Given the description of an element on the screen output the (x, y) to click on. 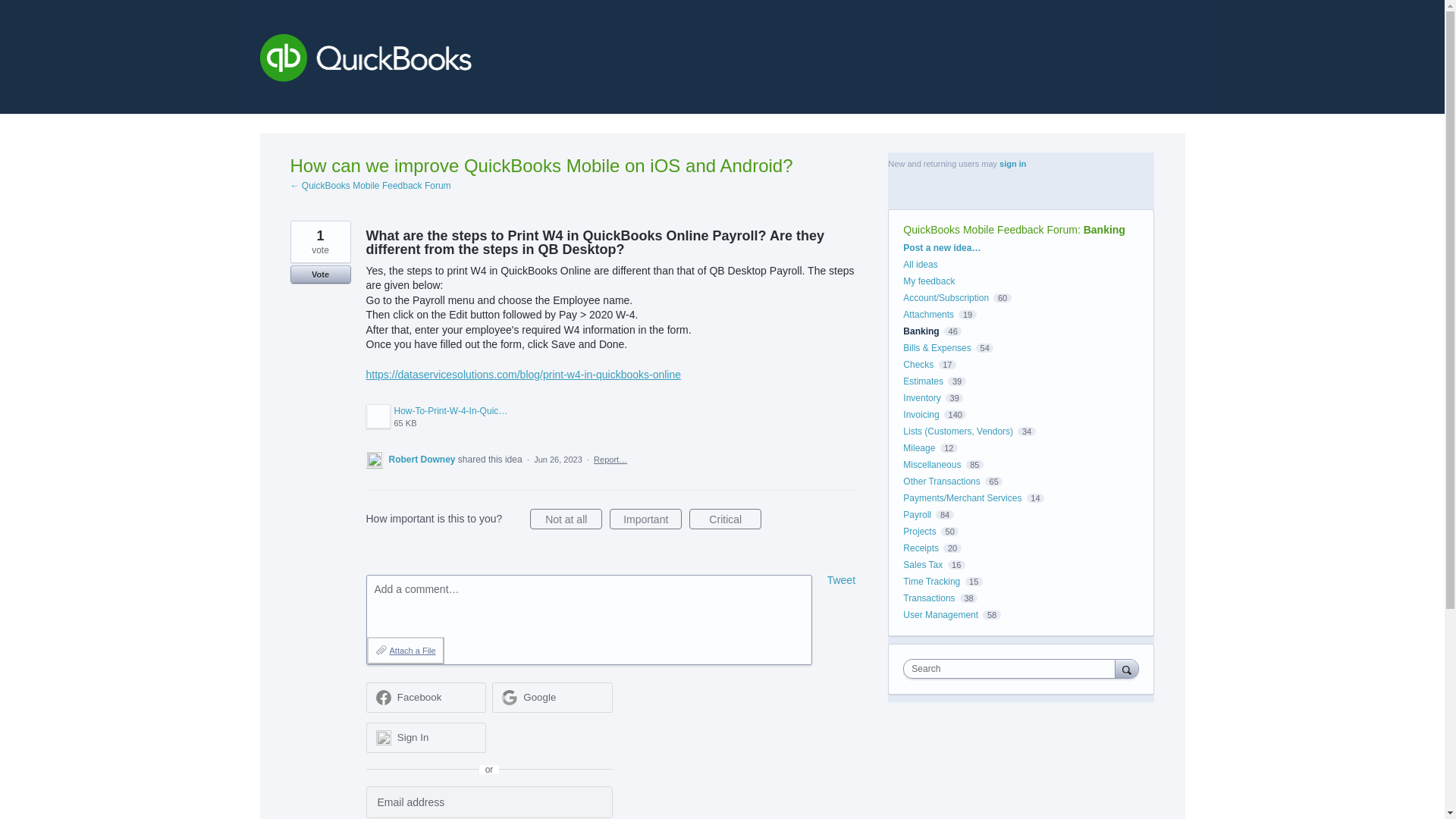
Critical (724, 518)
Google (552, 697)
Not at all (565, 518)
Vote (319, 274)
Skip to content (12, 12)
Robert Downey (437, 416)
View How-To-Print-W-4-In-QuickBooks-Online.jpg (422, 459)
Attach a File (437, 416)
Facebook sign in (405, 650)
Important (425, 697)
Facebook (645, 518)
Tweet (425, 697)
Customer Feedback for QuickBooks Online (841, 580)
